Given the description of an element on the screen output the (x, y) to click on. 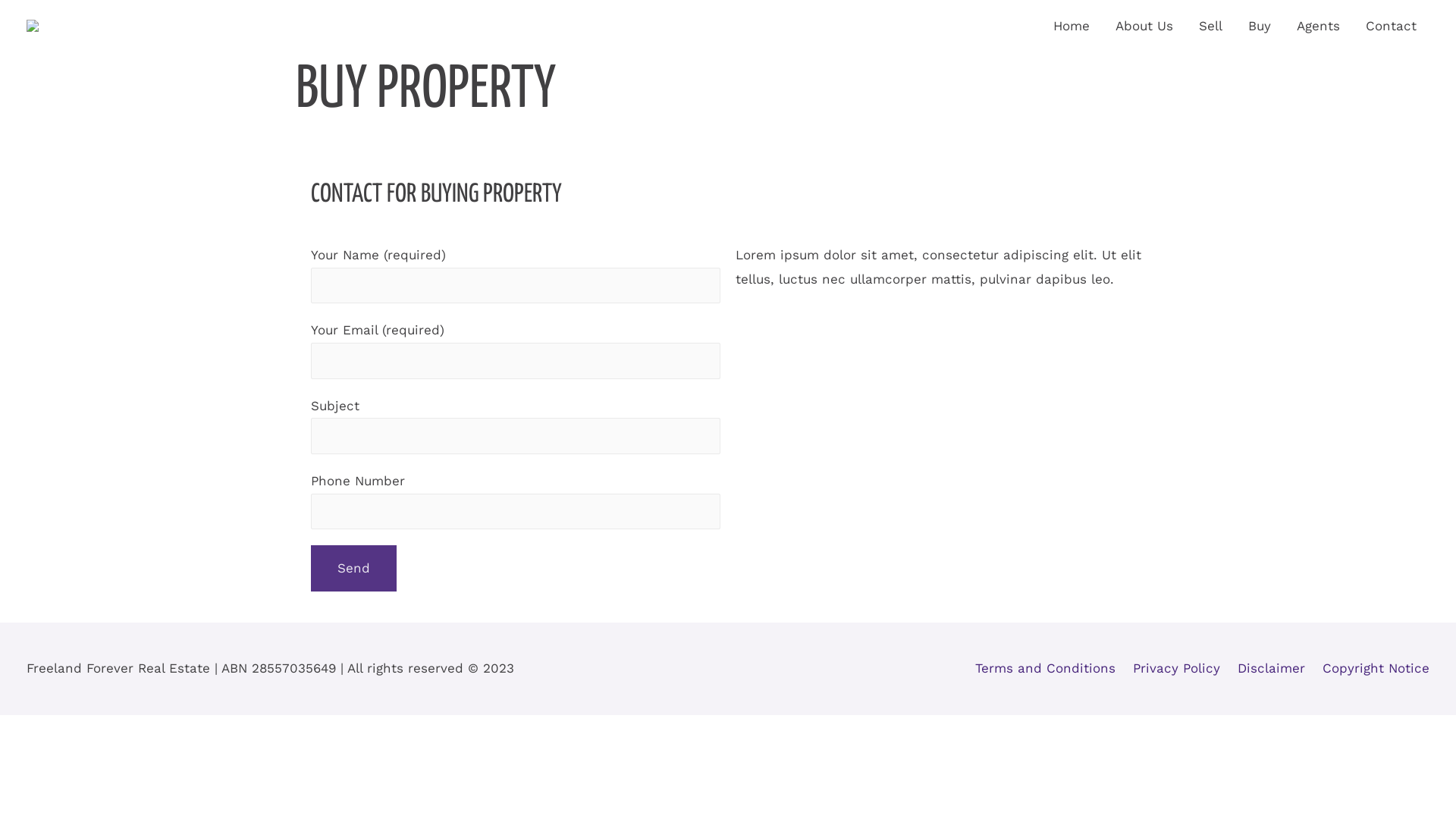
About Us Element type: text (1144, 25)
Agents Element type: text (1317, 25)
Privacy Policy Element type: text (1170, 667)
Home Element type: text (1071, 25)
Contact Element type: text (1390, 25)
Send Element type: text (353, 568)
Terms and Conditions Element type: text (1045, 667)
Copyright Notice Element type: text (1369, 667)
Buy Element type: text (1259, 25)
Sell Element type: text (1210, 25)
Disclaimer Element type: text (1264, 667)
